Given the description of an element on the screen output the (x, y) to click on. 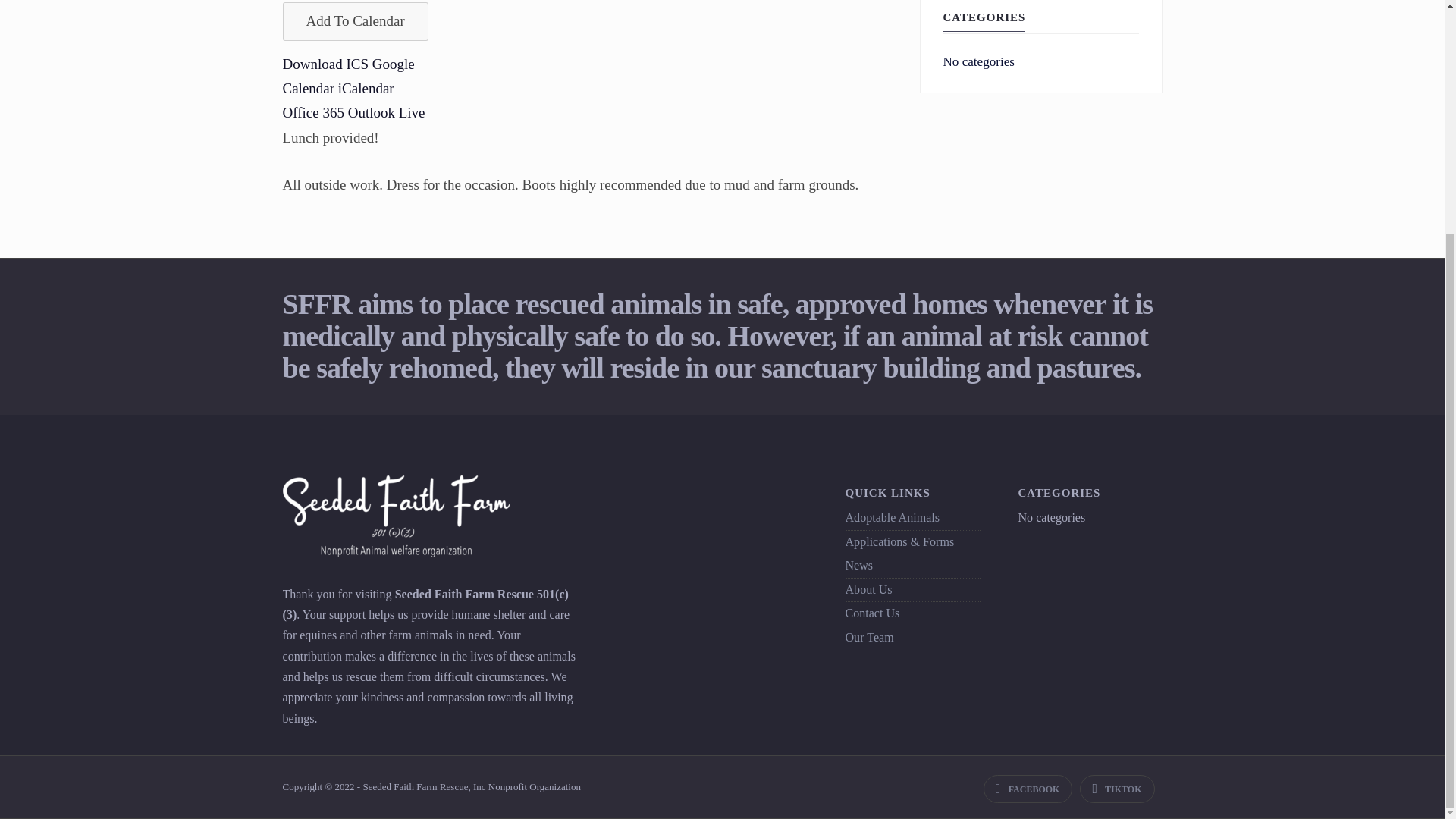
Add To Calendar (355, 21)
TikTok (1117, 788)
Contact Us (871, 612)
News (858, 564)
TIKTOK (1117, 788)
Facebook (1027, 788)
About Us (867, 589)
Google Calendar (347, 76)
Download ICS (325, 64)
FACEBOOK (1027, 788)
